Given the description of an element on the screen output the (x, y) to click on. 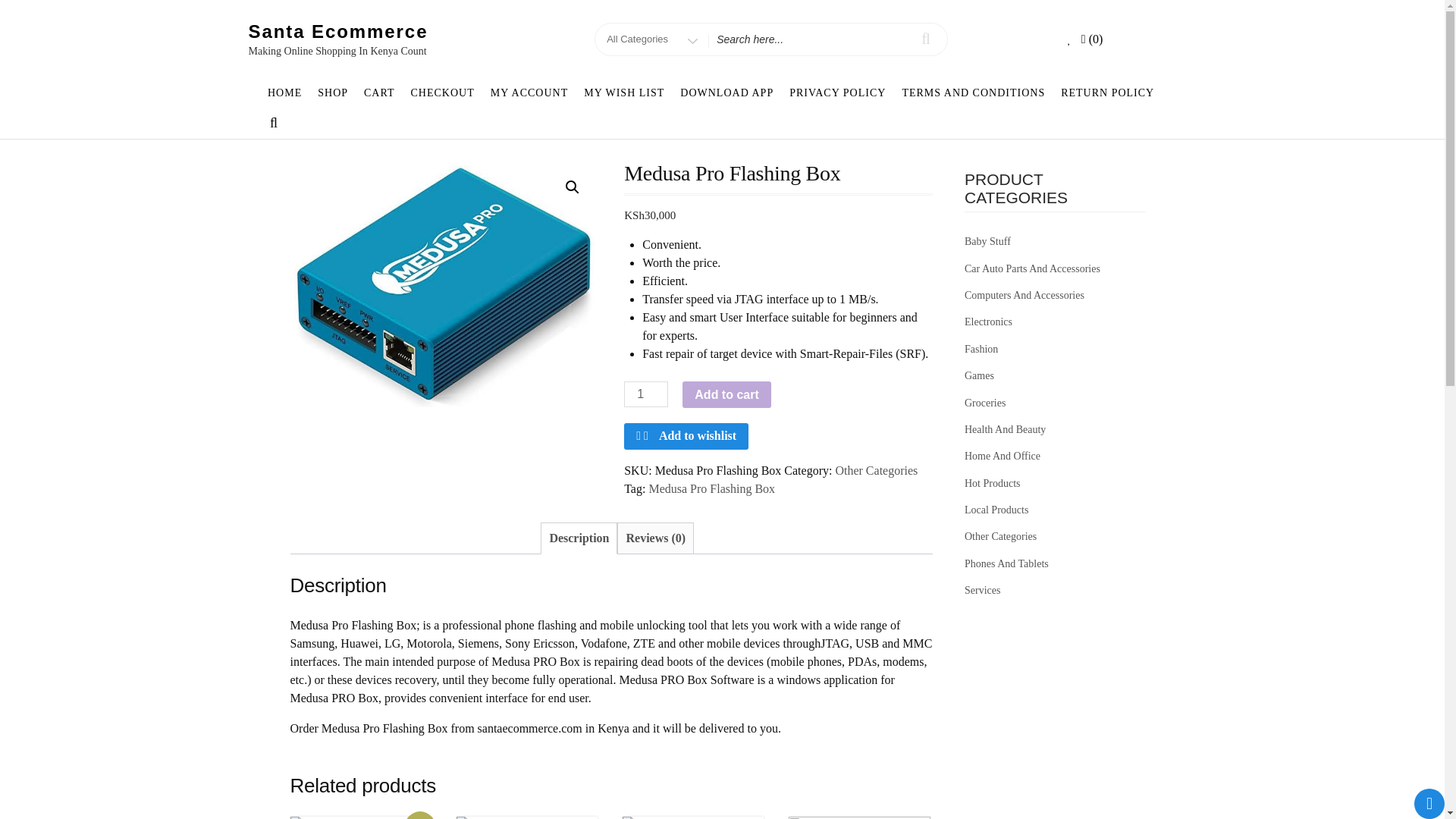
1 (646, 394)
images (443, 285)
Santa Ecommerce (338, 31)
PRIVACY POLICY (837, 92)
CHECKOUT (442, 92)
Add to wishlist (686, 436)
Cart View (527, 817)
SHOP (1093, 38)
Description (333, 92)
DOWNLOAD APP (578, 538)
MY WISH LIST (726, 92)
Add to cart (693, 817)
